Given the description of an element on the screen output the (x, y) to click on. 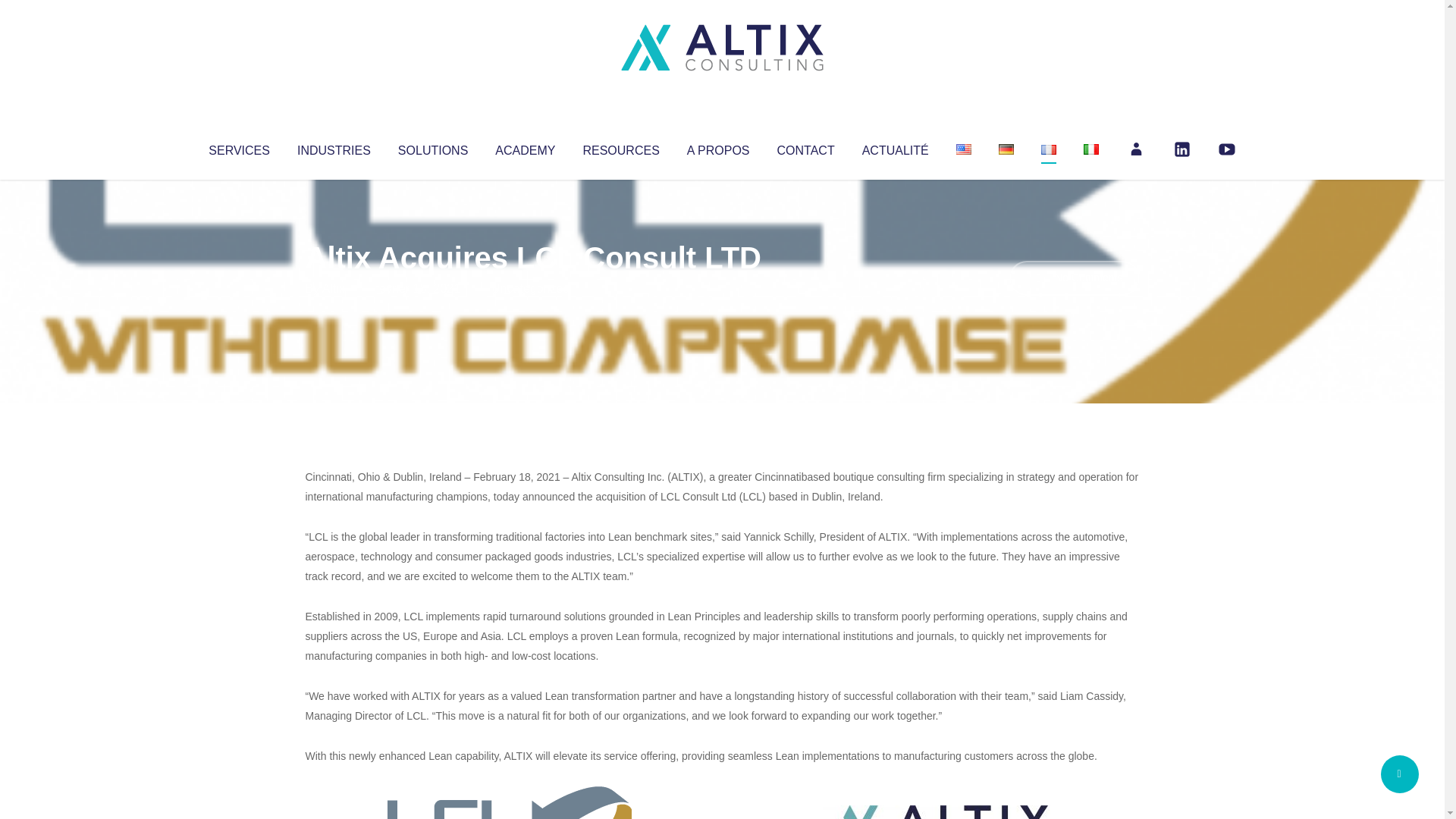
SOLUTIONS (432, 146)
A PROPOS (718, 146)
Articles par Altix (333, 287)
ACADEMY (524, 146)
Altix (333, 287)
SERVICES (238, 146)
INDUSTRIES (334, 146)
RESOURCES (620, 146)
Uncategorized (530, 287)
No Comments (1073, 278)
